Given the description of an element on the screen output the (x, y) to click on. 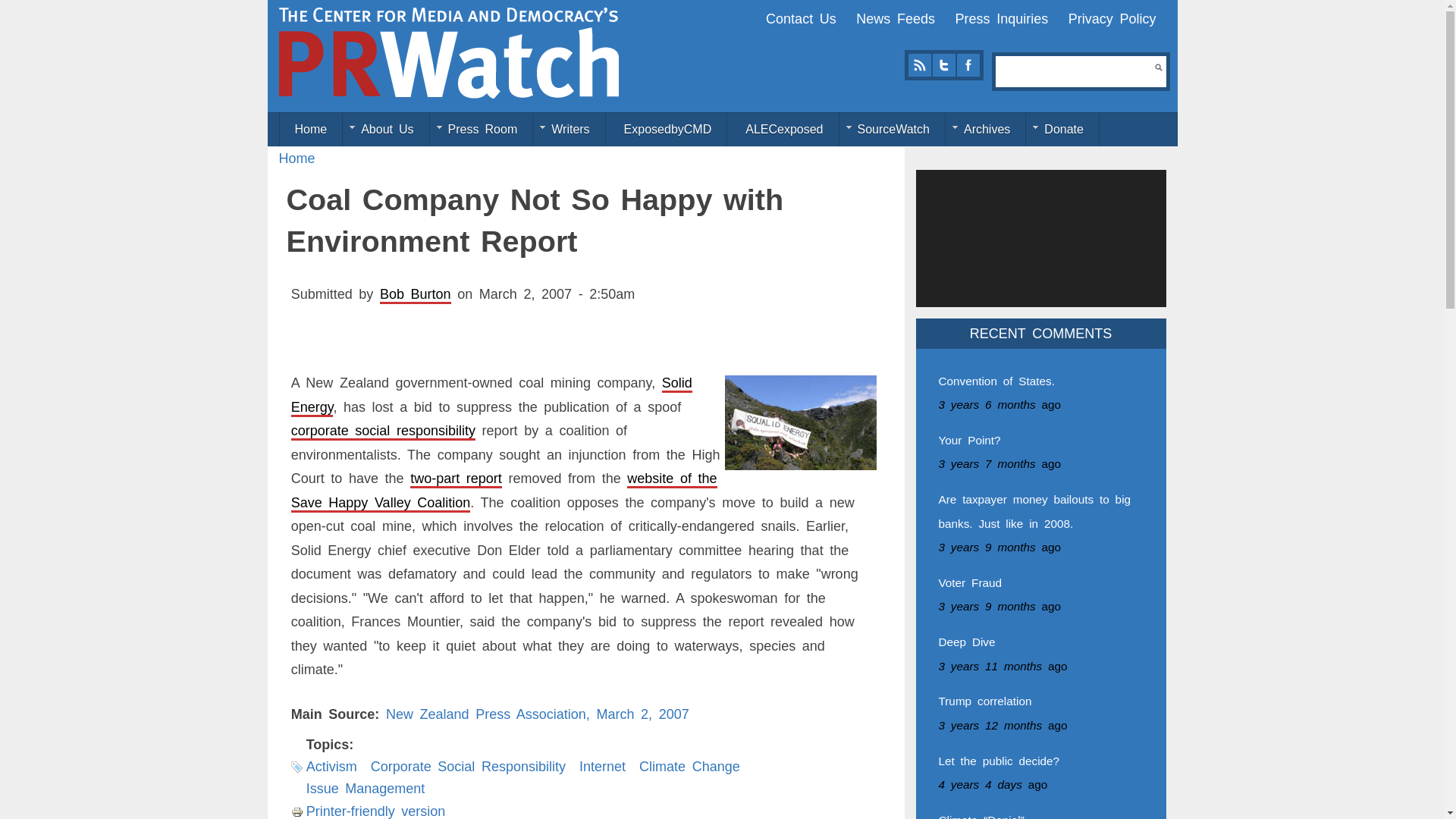
Enter the terms you wish to search for. (1074, 71)
Solid Energy (492, 394)
New Zealand Press Association, March 2, 2007 (536, 713)
Join CMD's Facebook Page (967, 64)
Bob Burton (415, 294)
Display a printer-friendly version of this page. (368, 811)
Home (448, 52)
corporate social responsibility (383, 430)
Facebook (967, 64)
Privacy Policy (1112, 18)
Twitter (943, 64)
Search (1157, 67)
Press Inquiries (1001, 18)
Internet (602, 766)
Activism (330, 766)
